Given the description of an element on the screen output the (x, y) to click on. 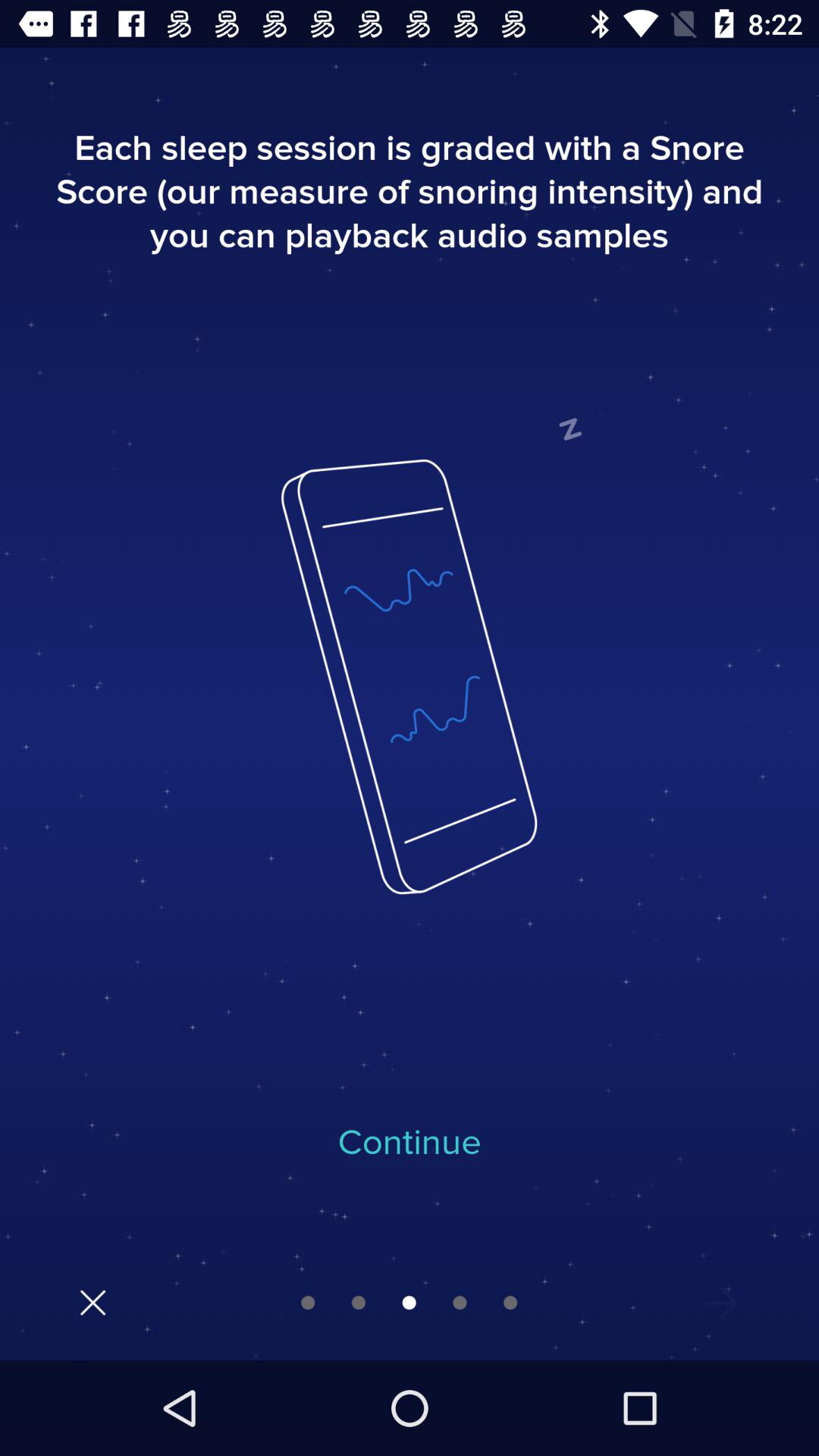
click close option (92, 1302)
